Given the description of an element on the screen output the (x, y) to click on. 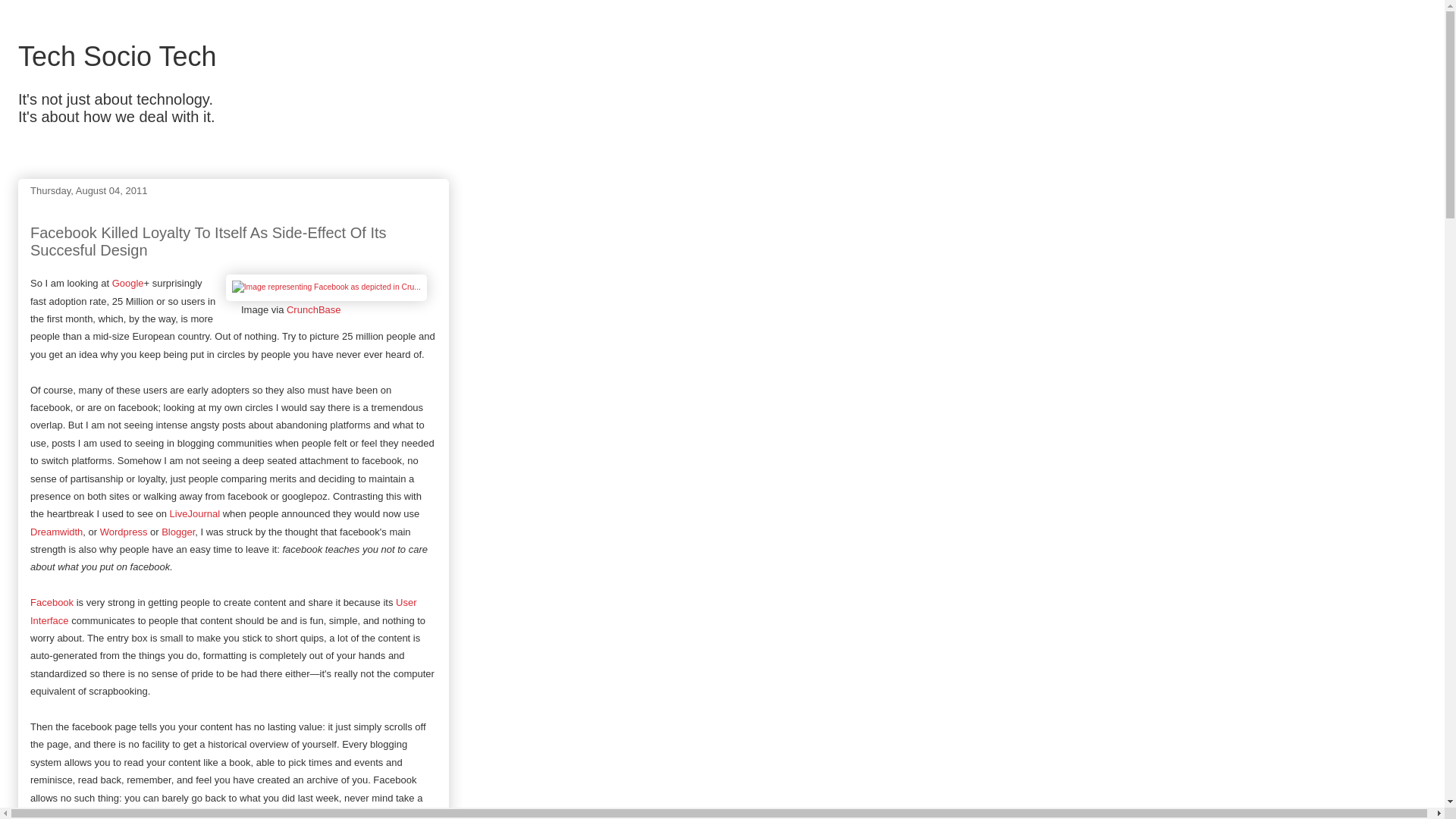
LiveJournal (195, 513)
Blogger (178, 531)
Tech Socio Tech (116, 56)
CrunchBase (313, 309)
Facebook (52, 602)
LiveJournal (195, 513)
Google (128, 283)
User interface (223, 611)
Google (128, 283)
Wordpress (124, 531)
Facebook (52, 602)
Blogger (178, 531)
User Interface (223, 611)
Dreamwidth (56, 531)
Dreamwidth (56, 531)
